Given the description of an element on the screen output the (x, y) to click on. 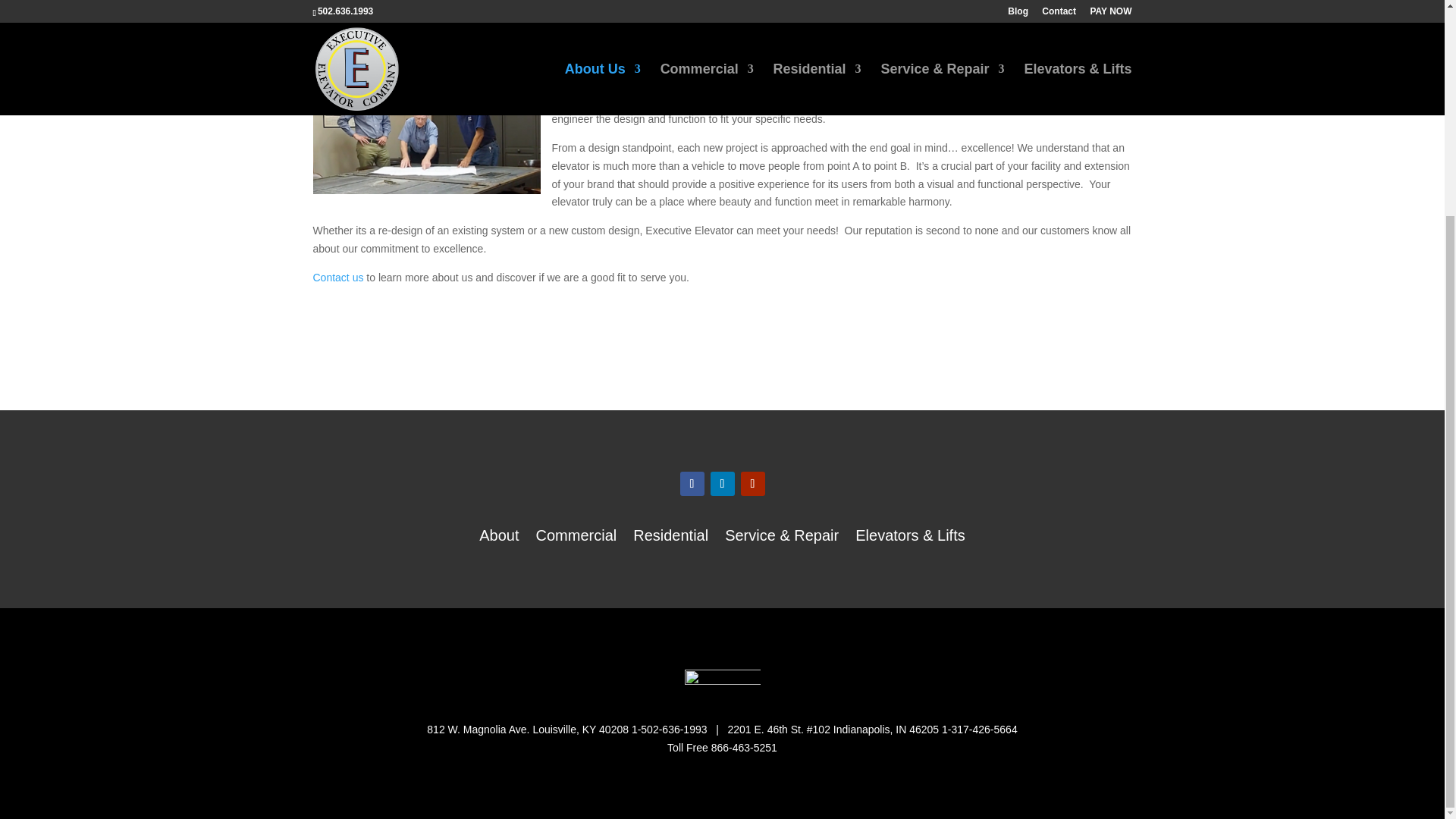
Follow on LinkedIn (721, 483)
Contact us (337, 277)
Follow on Facebook (691, 483)
About (498, 538)
Follow on Youtube (751, 483)
Commercial (576, 538)
BBB-reversed (722, 683)
Residential (670, 538)
